Given the description of an element on the screen output the (x, y) to click on. 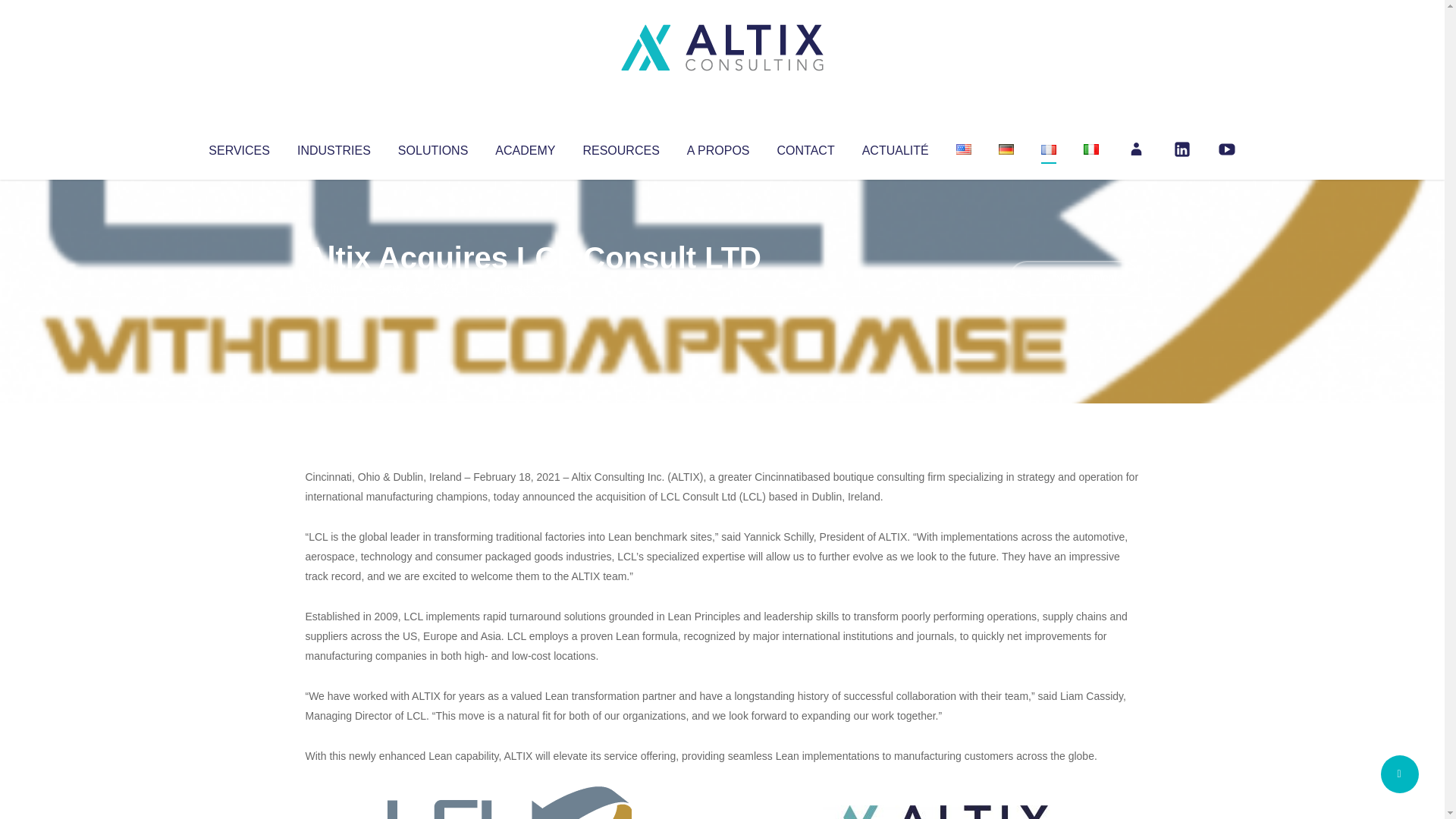
No Comments (1073, 278)
Uncategorized (530, 287)
SOLUTIONS (432, 146)
Altix (333, 287)
A PROPOS (718, 146)
INDUSTRIES (334, 146)
SERVICES (238, 146)
RESOURCES (620, 146)
Articles par Altix (333, 287)
ACADEMY (524, 146)
